Given the description of an element on the screen output the (x, y) to click on. 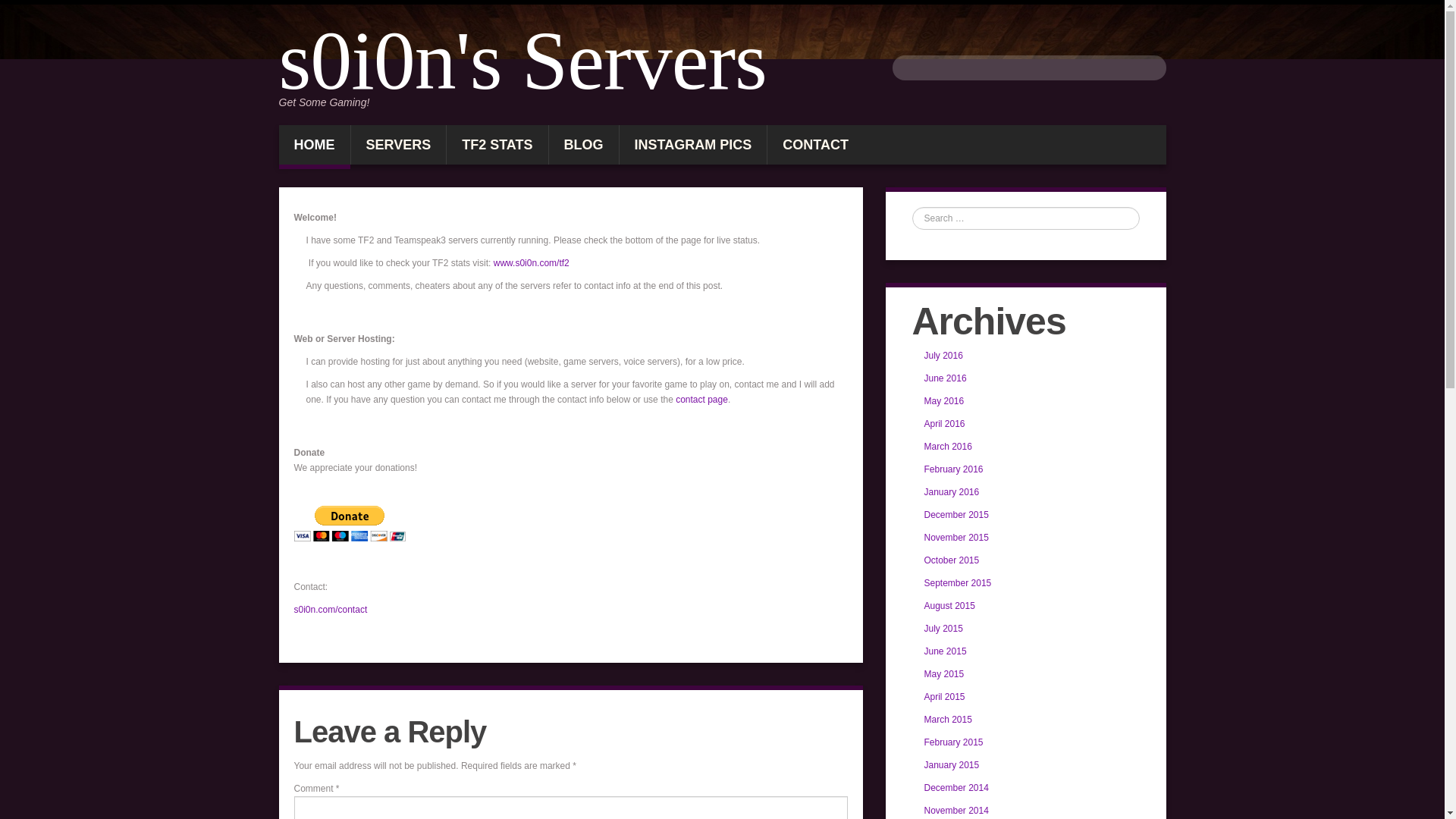
CONTACT (815, 144)
TF2 STATS (496, 144)
HOME (314, 146)
December 2015 (955, 514)
SERVERS (397, 144)
April 2016 (943, 423)
February 2016 (952, 469)
s0i0n's Servers (528, 60)
Contact Page (701, 398)
July 2016 (942, 355)
